Given the description of an element on the screen output the (x, y) to click on. 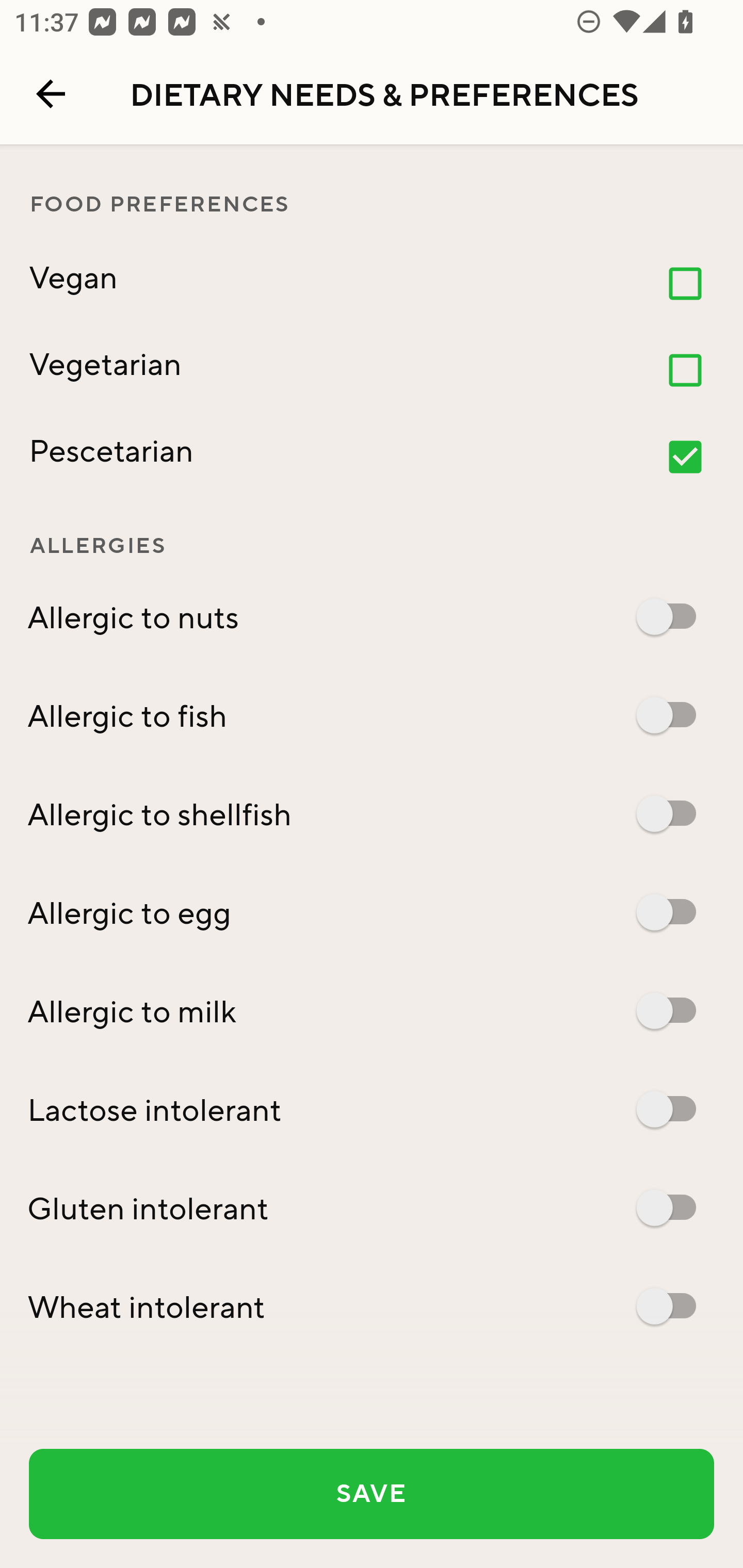
Navigate up (50, 93)
SAVE (371, 1493)
